Given the description of an element on the screen output the (x, y) to click on. 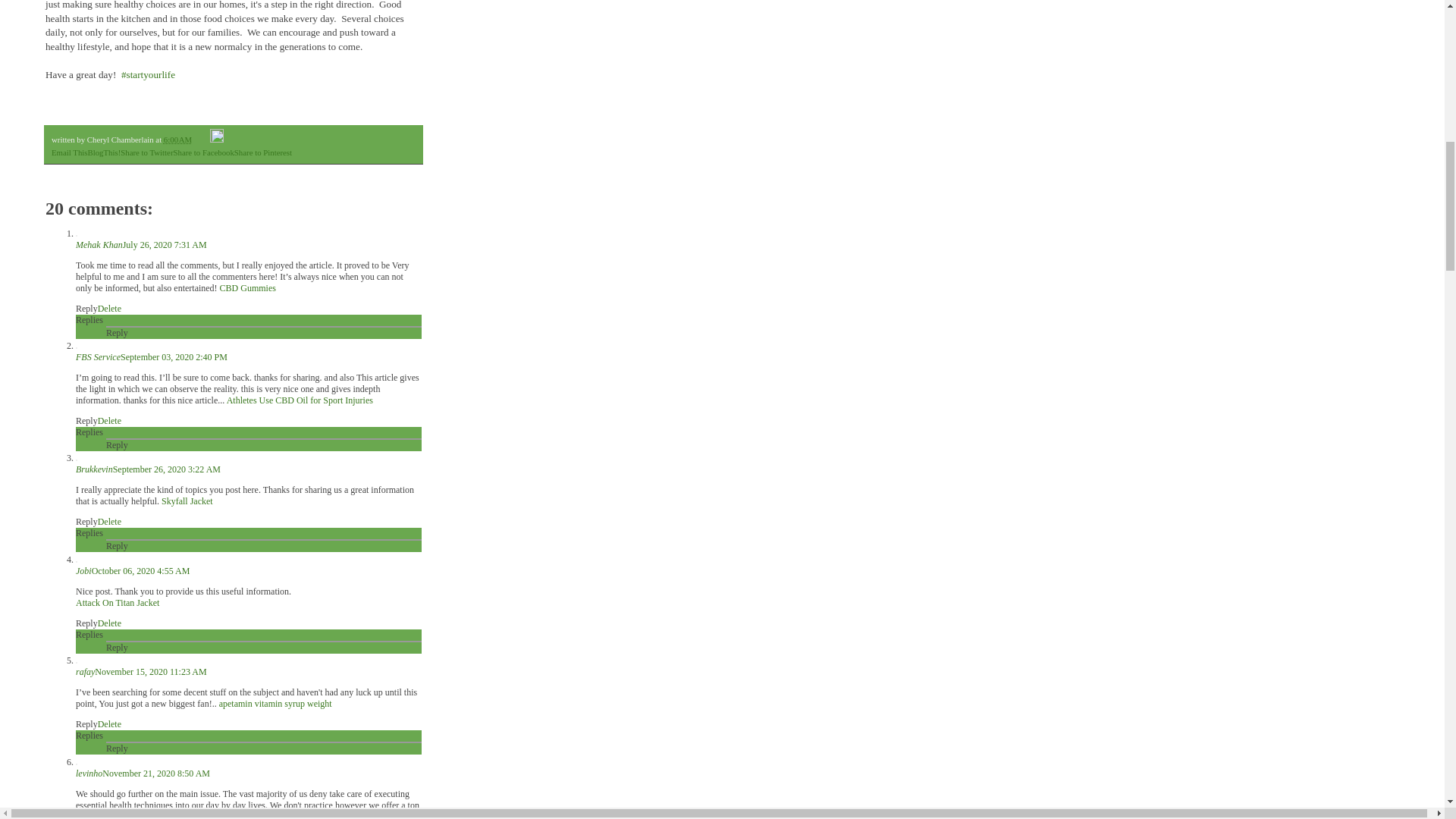
CBD Gummies (247, 287)
July 26, 2020 7:31 AM (164, 244)
Share to Pinterest (263, 152)
Skyfall Jacket (186, 501)
Replies (89, 634)
Reply (86, 623)
Delete (108, 623)
Athletes Use CBD Oil for Sport Injuries (299, 399)
Reply (86, 308)
Reply (117, 332)
Attack On Titan Jacket (116, 602)
Brukkevin (94, 469)
Jobi (83, 570)
Email This (68, 152)
Email Post (201, 139)
